Given the description of an element on the screen output the (x, y) to click on. 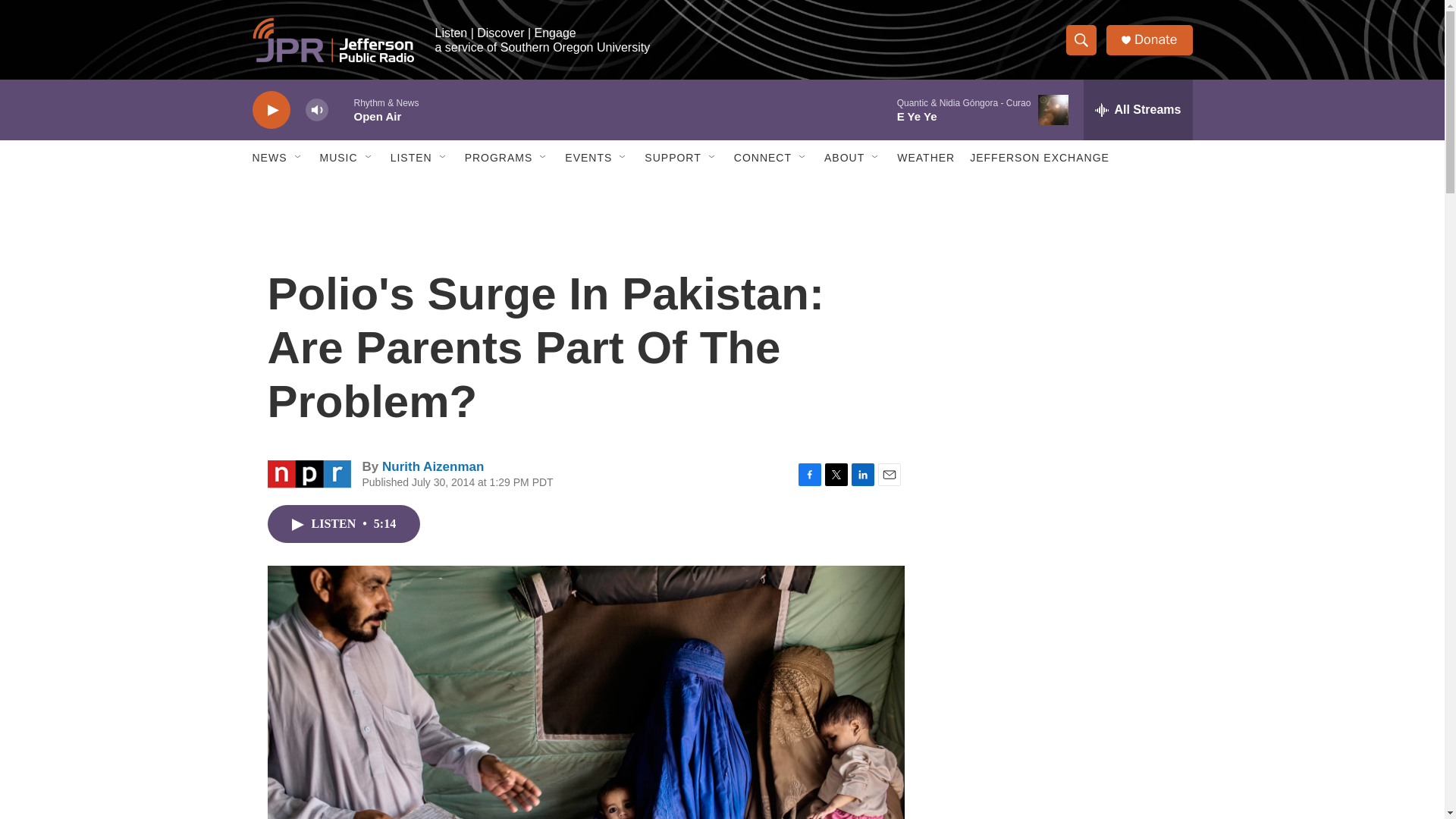
3rd party ad content (1062, 536)
3rd party ad content (1062, 740)
3rd party ad content (1062, 316)
